Given the description of an element on the screen output the (x, y) to click on. 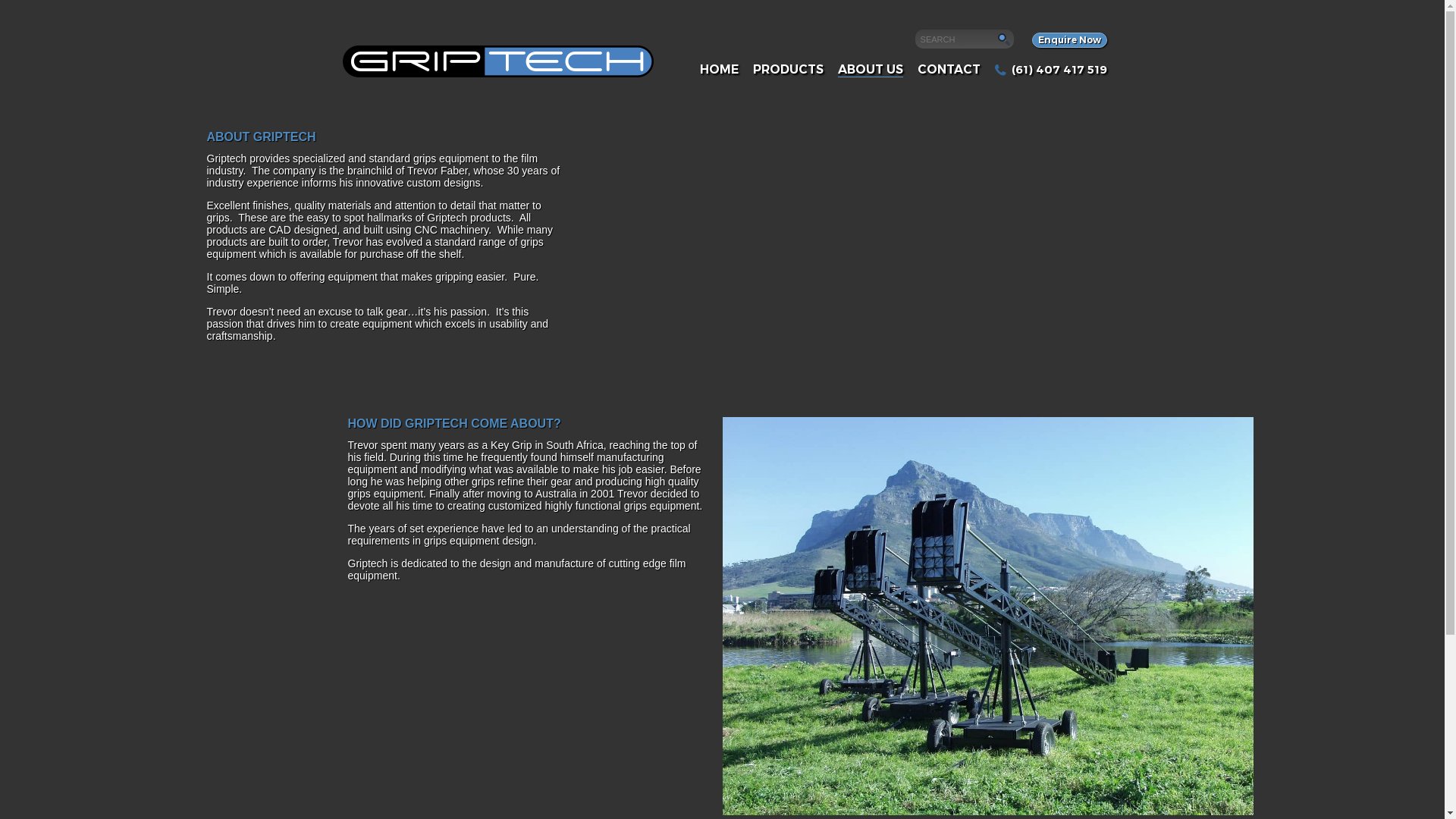
ABOUT US Element type: text (870, 69)
Enquire Now Element type: text (1068, 39)
CONTACT Element type: text (948, 69)
Search Element type: hover (954, 38)
PRODUCTS Element type: text (788, 69)
(61) 407 417 519 Element type: text (1050, 69)
HOME Element type: text (718, 69)
